Given the description of an element on the screen output the (x, y) to click on. 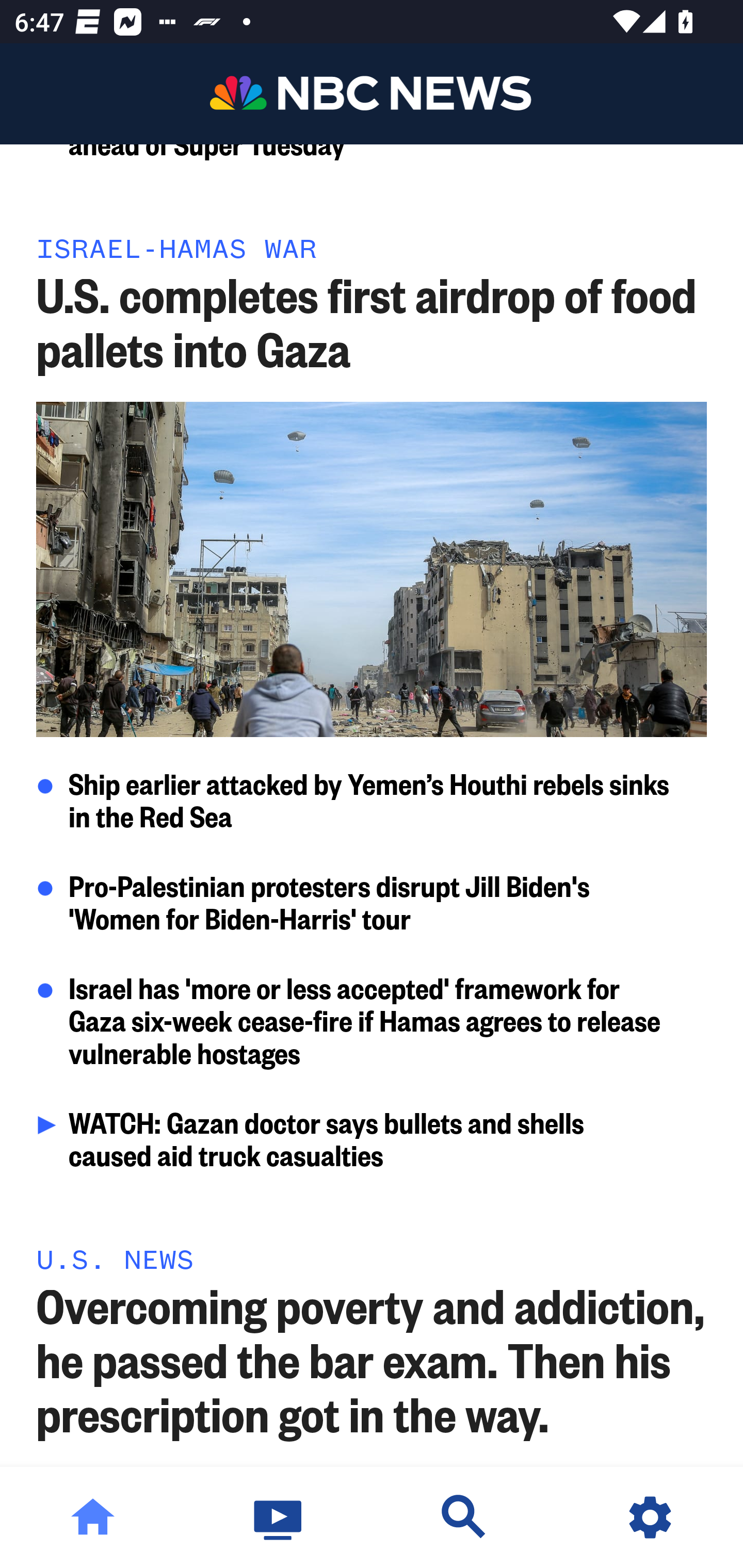
Watch (278, 1517)
Discover (464, 1517)
Settings (650, 1517)
